Given the description of an element on the screen output the (x, y) to click on. 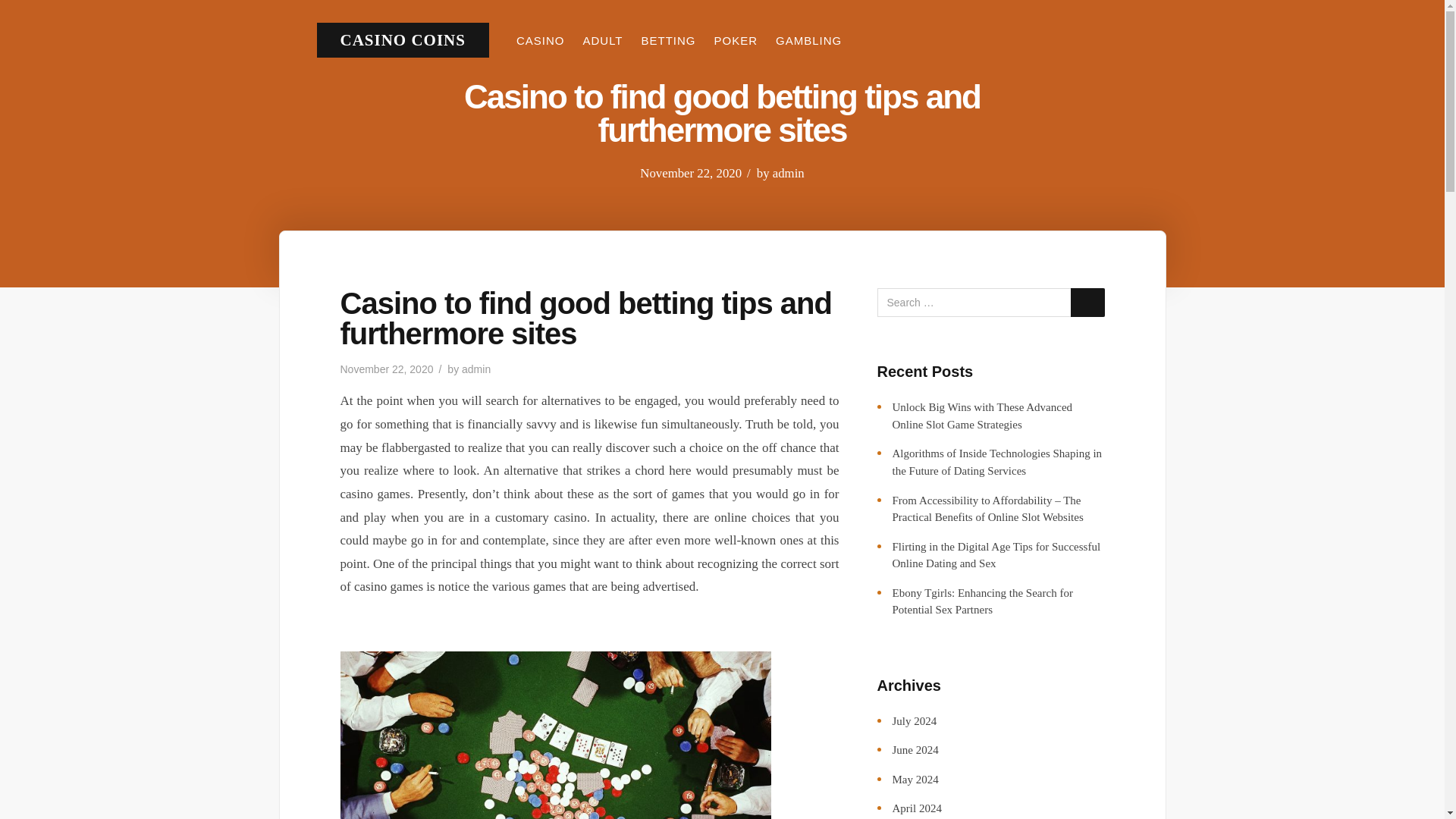
BETTING (668, 40)
Search for: (989, 302)
GAMBLING (808, 40)
CASINO (540, 40)
April 2024 (915, 808)
November 22, 2020 (385, 369)
CASINO COINS (401, 40)
June 2024 (914, 749)
November 22, 2020 (690, 173)
admin (475, 369)
ADULT (601, 40)
May 2024 (914, 779)
July 2024 (913, 720)
